Given the description of an element on the screen output the (x, y) to click on. 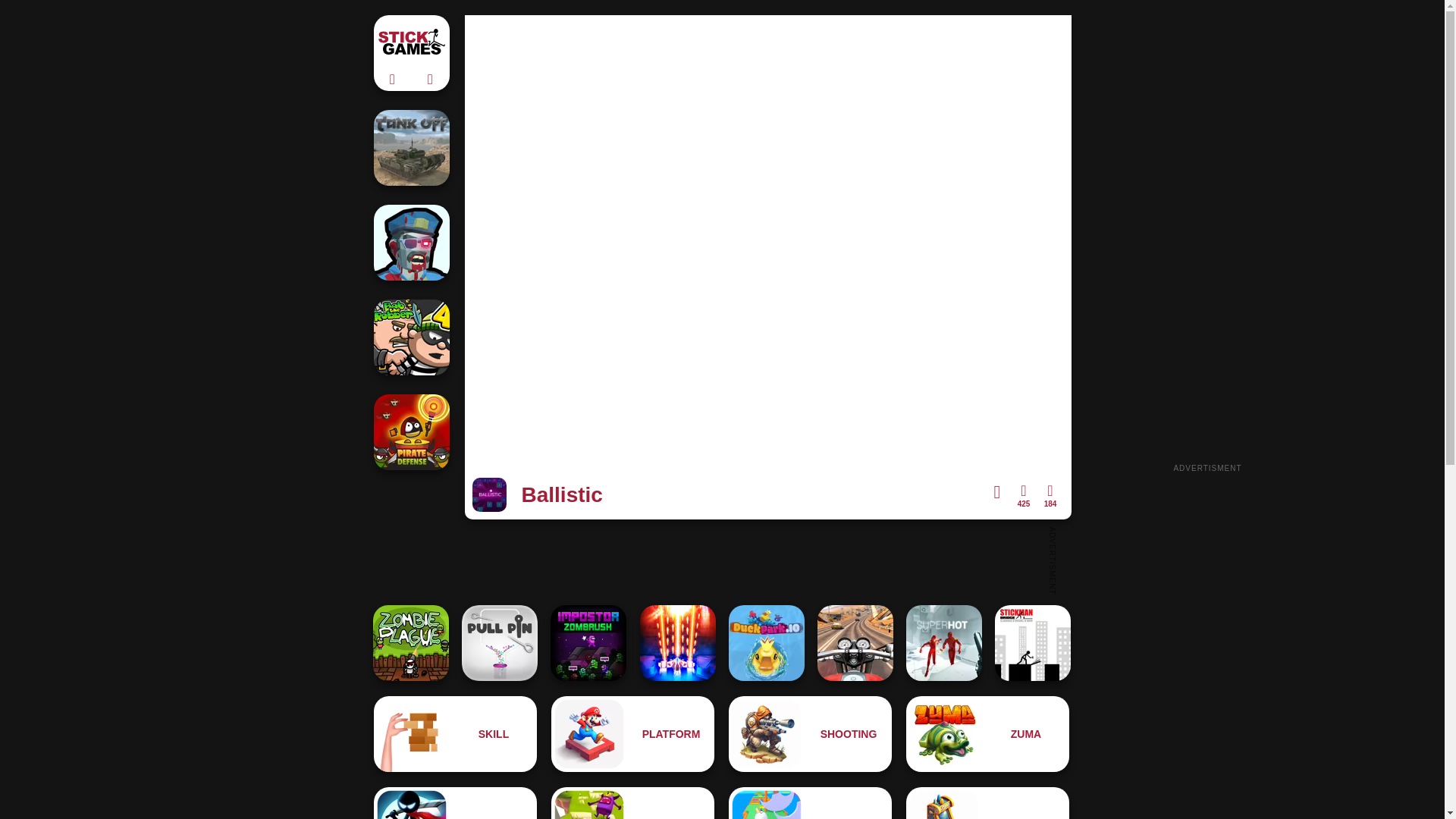
Shooting (810, 734)
Pirate Defense (410, 431)
Impostor Zombrush (588, 642)
SHOOTING (810, 734)
Dislike (1050, 496)
DuckPark.io (767, 642)
Zombies Shooter (410, 242)
OBBY (810, 803)
Moto Road Rash 3D (854, 642)
PLATFORM (632, 734)
SUPERHOT Prototype (943, 642)
Zombie Plague (410, 642)
RUNNING (632, 803)
SKILL (455, 734)
Skill (455, 734)
